Given the description of an element on the screen output the (x, y) to click on. 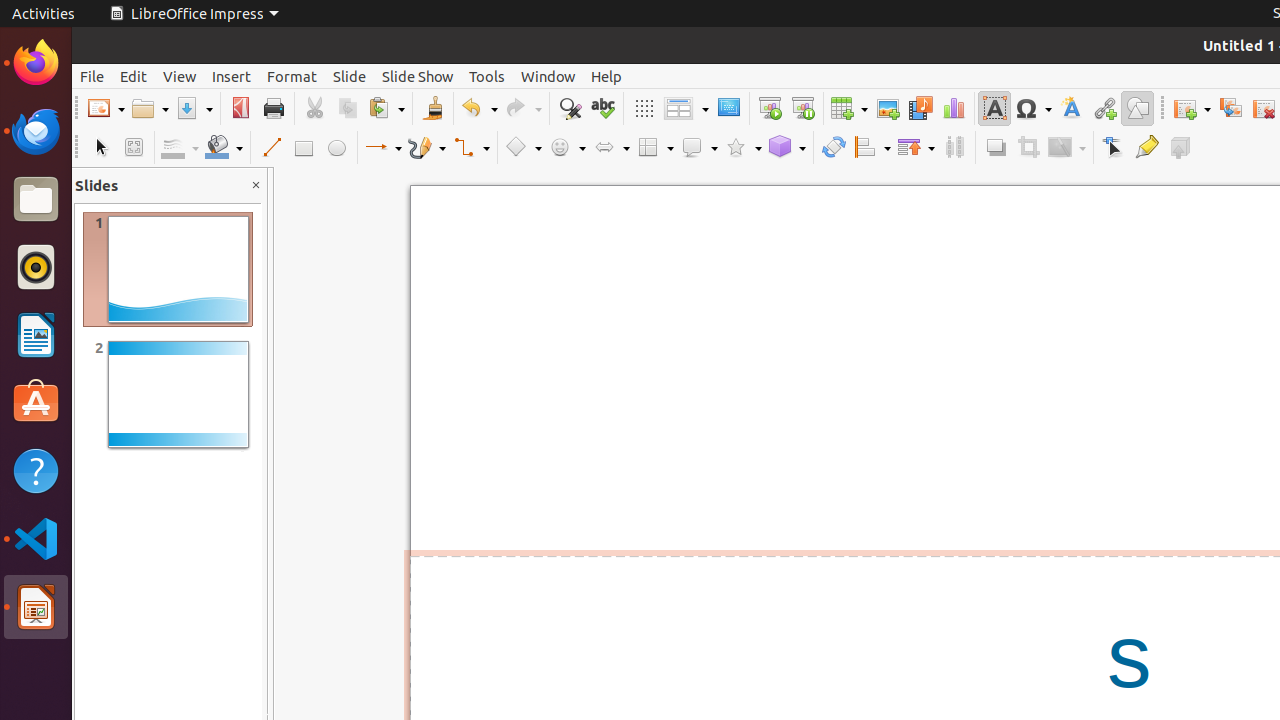
3D Objects Element type: push-button (787, 147)
Ellipse Element type: push-button (336, 147)
Master Slide Element type: push-button (728, 108)
Text Box Element type: push-button (994, 108)
Image Element type: push-button (887, 108)
